Given the description of an element on the screen output the (x, y) to click on. 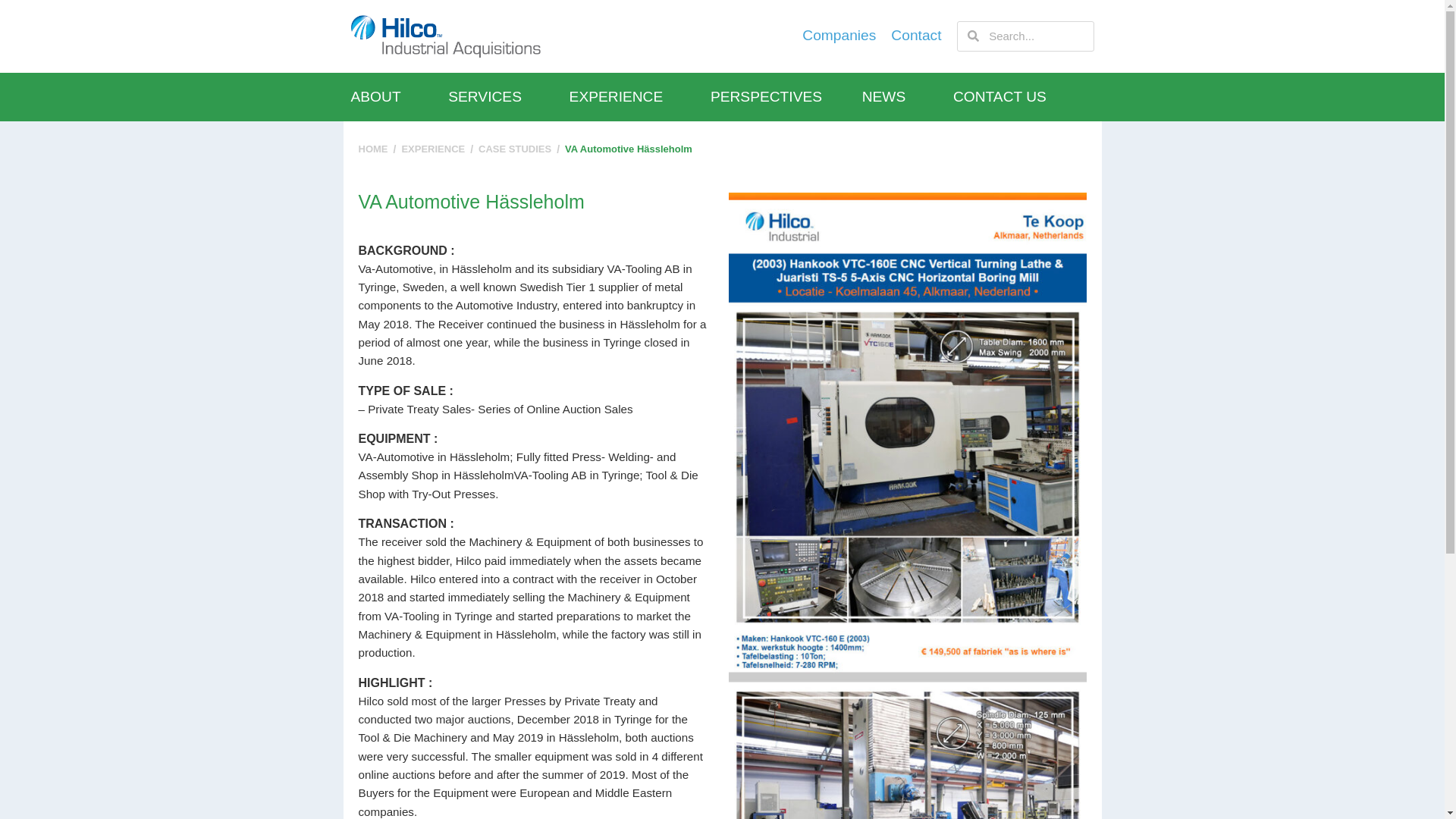
CONTACT US (1023, 96)
NEWS (907, 96)
Companies (839, 35)
ABOUT (399, 96)
SERVICES (508, 96)
EXPERIENCE (639, 96)
Contact (915, 35)
PERSPECTIVES (785, 96)
